Given the description of an element on the screen output the (x, y) to click on. 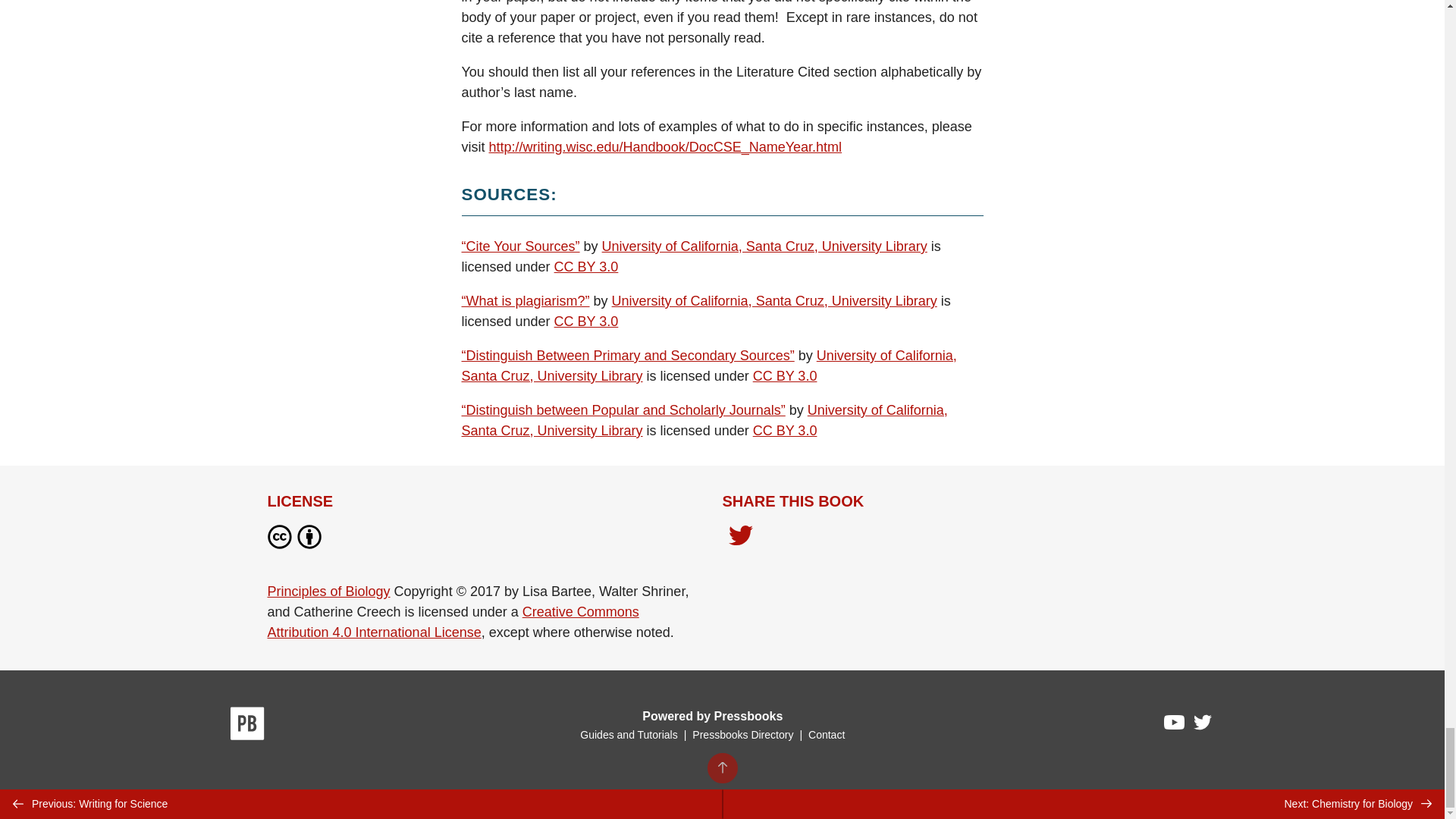
Guides and Tutorials (627, 734)
University of California, Santa Cruz, University Library (704, 420)
University of California, Santa Cruz, University Library (708, 366)
Share on Twitter (740, 536)
CC BY 3.0 (784, 376)
CC BY 3.0 (586, 321)
CC BY 3.0 (586, 266)
Pressbooks on YouTube (1174, 725)
Share on Twitter (740, 539)
CC BY 3.0 (784, 430)
